Given the description of an element on the screen output the (x, y) to click on. 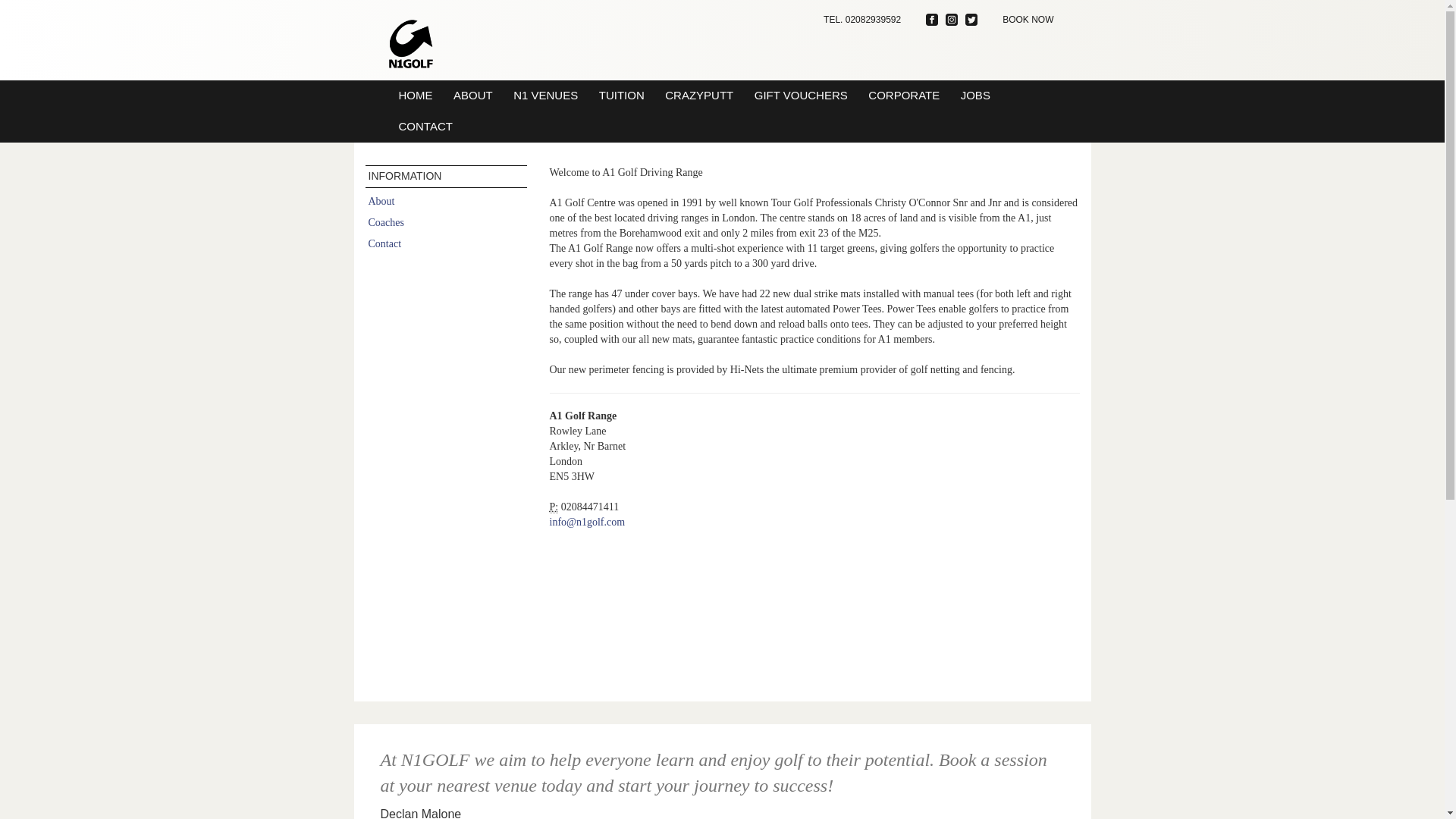
CONTACT (425, 125)
HOME (415, 94)
JOBS (975, 94)
Phone (552, 507)
ABOUT (472, 94)
Contact (384, 243)
BOOK NOW (1027, 19)
TUITION (621, 94)
Coaches (386, 222)
CRAZYPUTT (699, 94)
About (381, 201)
CORPORATE (903, 94)
N1 VENUES (545, 94)
GIFT VOUCHERS (800, 94)
